Given the description of an element on the screen output the (x, y) to click on. 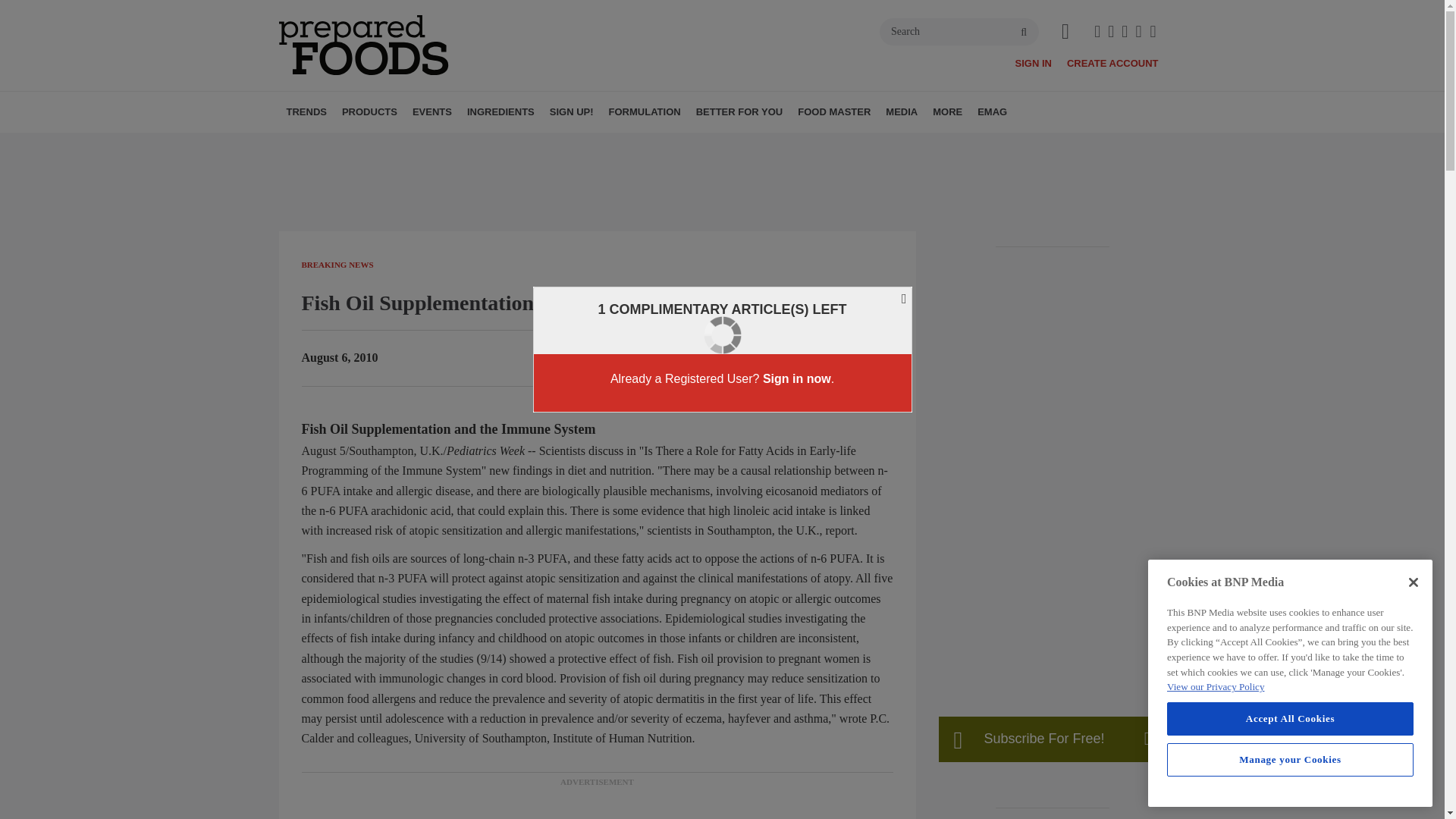
Search (959, 31)
Search (959, 31)
